Given the description of an element on the screen output the (x, y) to click on. 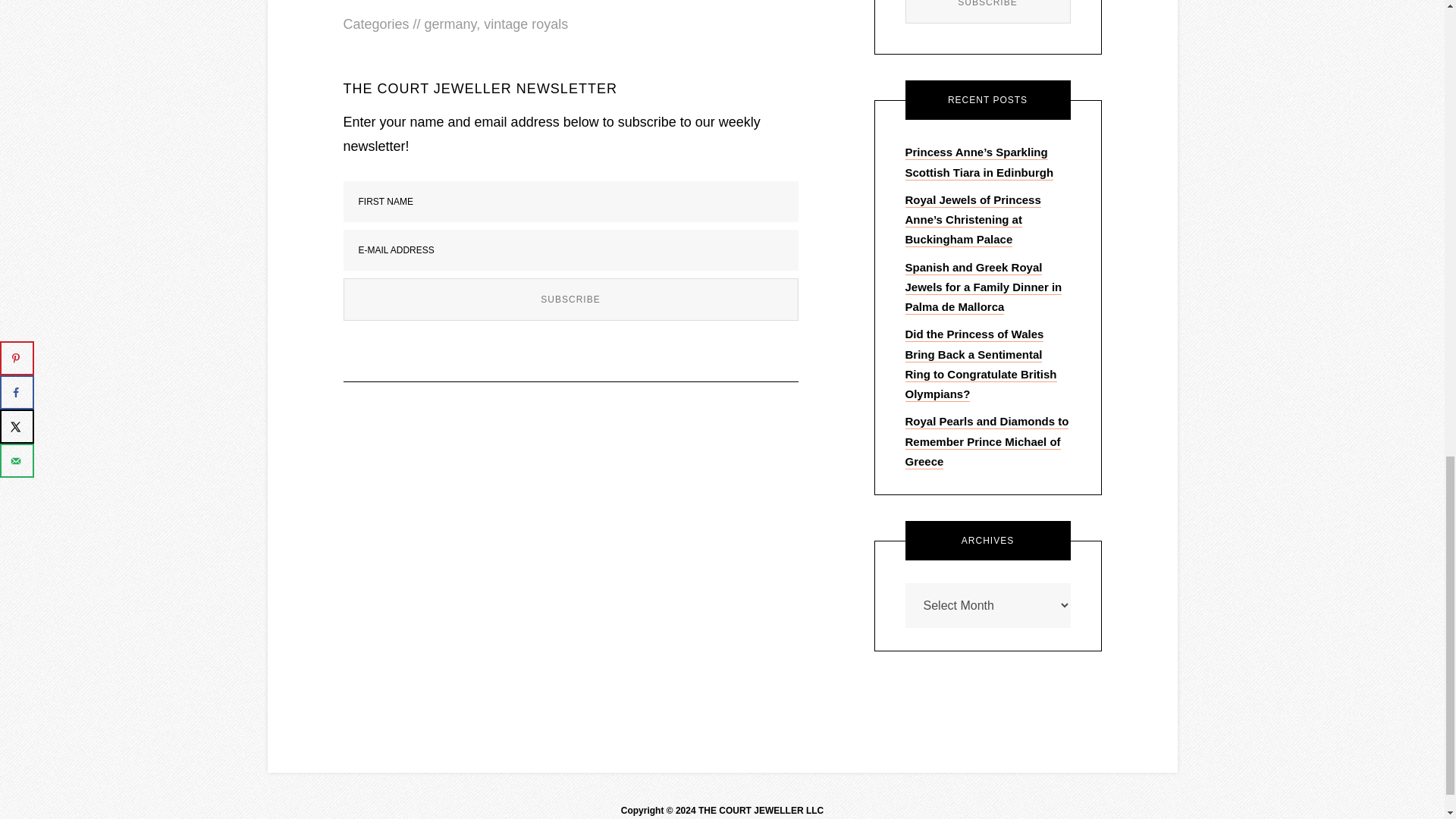
Subscribe (569, 299)
Subscribe (569, 299)
Subscribe (987, 11)
vintage royals (525, 23)
germany (451, 23)
Subscribe (987, 11)
